Given the description of an element on the screen output the (x, y) to click on. 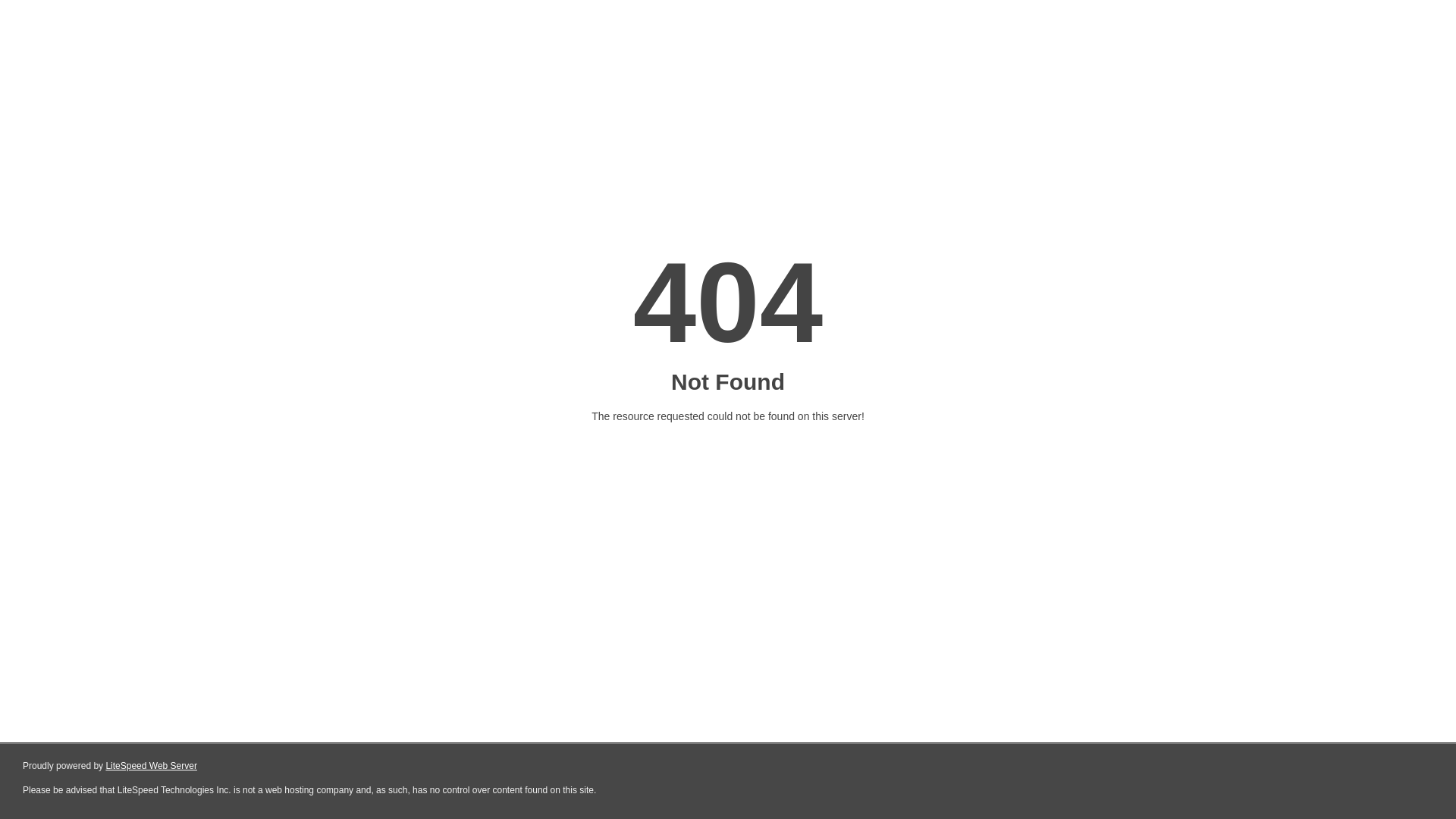
LiteSpeed Web Server Element type: text (151, 765)
